Given the description of an element on the screen output the (x, y) to click on. 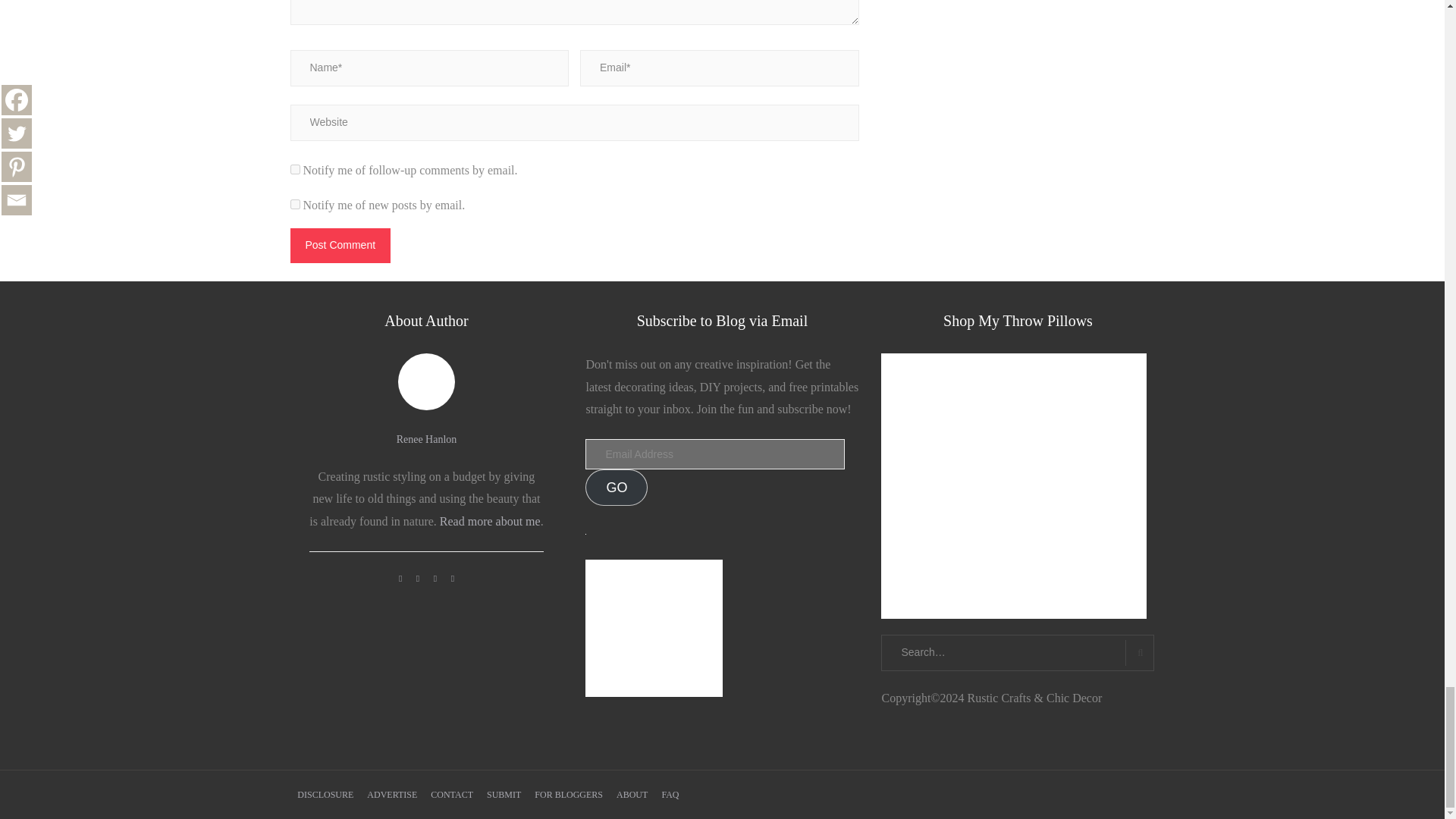
subscribe (294, 204)
subscribe (294, 169)
Post Comment (339, 245)
Renee Hanlon (426, 439)
